Given the description of an element on the screen output the (x, y) to click on. 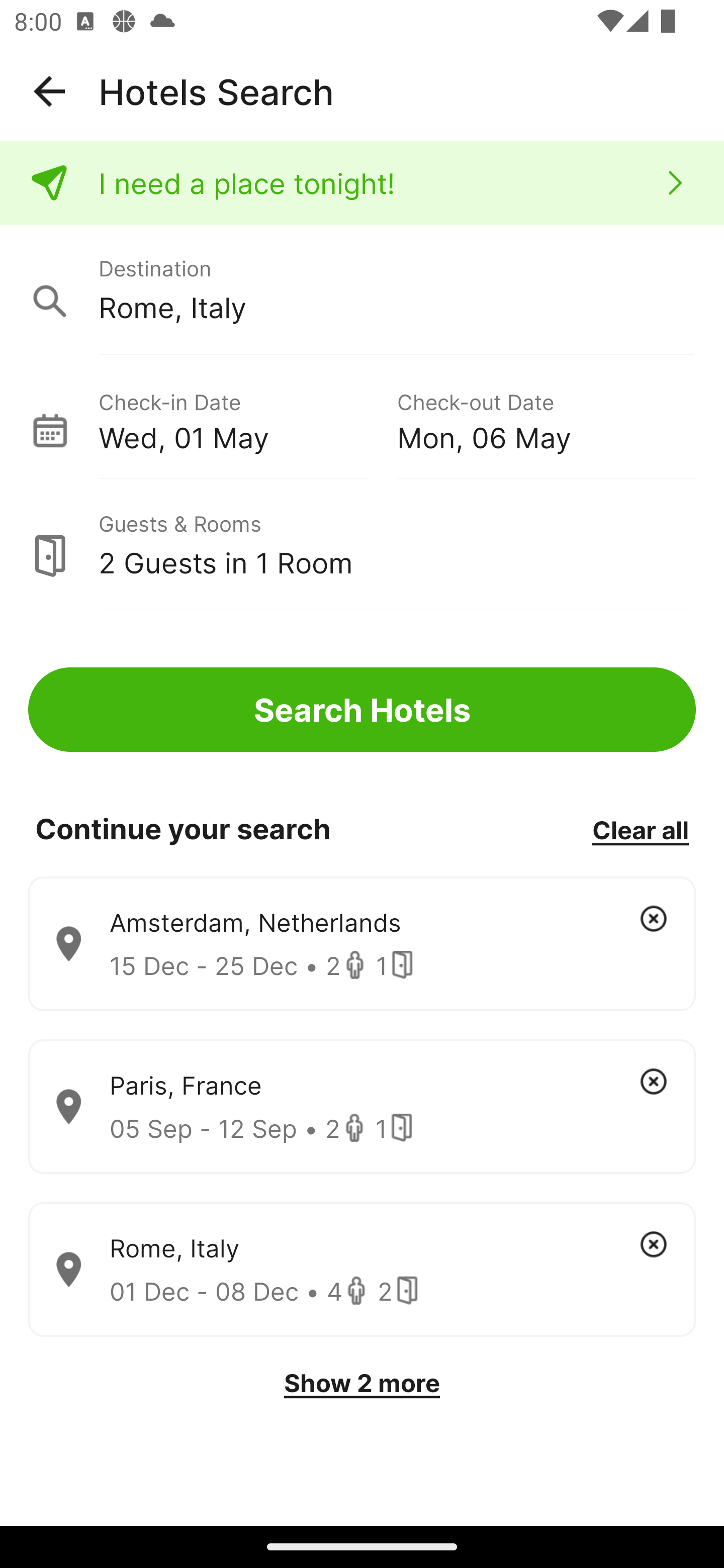
I need a place tonight! (362, 183)
Destination Rome, Italy (362, 290)
Check-in Date Wed, 01 May (247, 418)
Check-out Date Mon, 06 May (546, 418)
Guests & Rooms 2 Guests in 1 Room (362, 545)
Search Hotels (361, 709)
Clear all (640, 829)
Amsterdam, Netherlands 15 Dec - 25 Dec • 2  1  (361, 943)
Paris, France 05 Sep - 12 Sep • 2  1  (361, 1106)
Rome, Italy 01 Dec - 08 Dec • 4  2  (361, 1269)
Show 2 more (362, 1382)
